Given the description of an element on the screen output the (x, y) to click on. 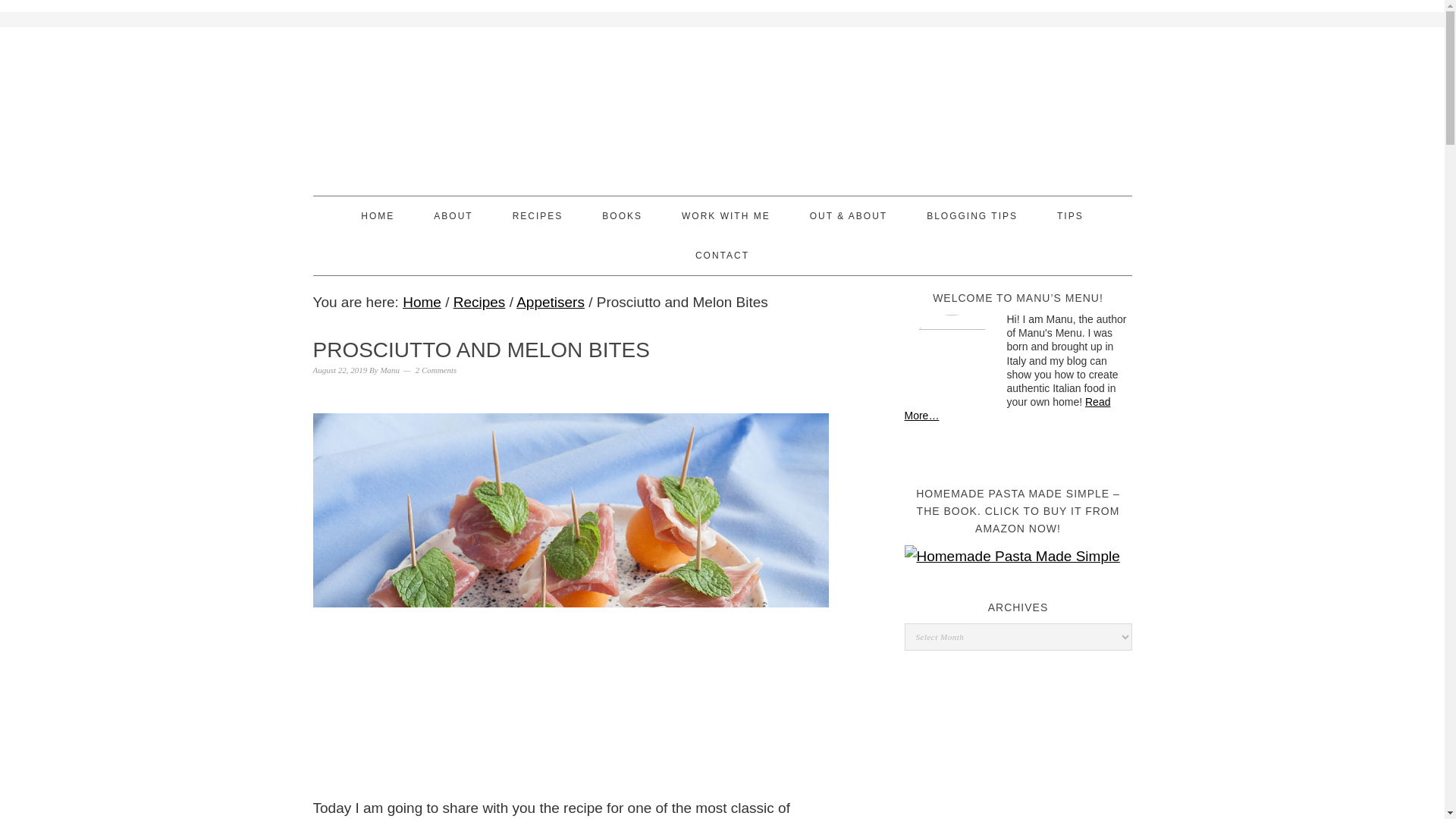
BLOGGING TIPS (971, 215)
RECIPES (537, 215)
HOME (377, 215)
WORK WITH ME (725, 215)
BOOKS (622, 215)
ABOUT (453, 215)
